Given the description of an element on the screen output the (x, y) to click on. 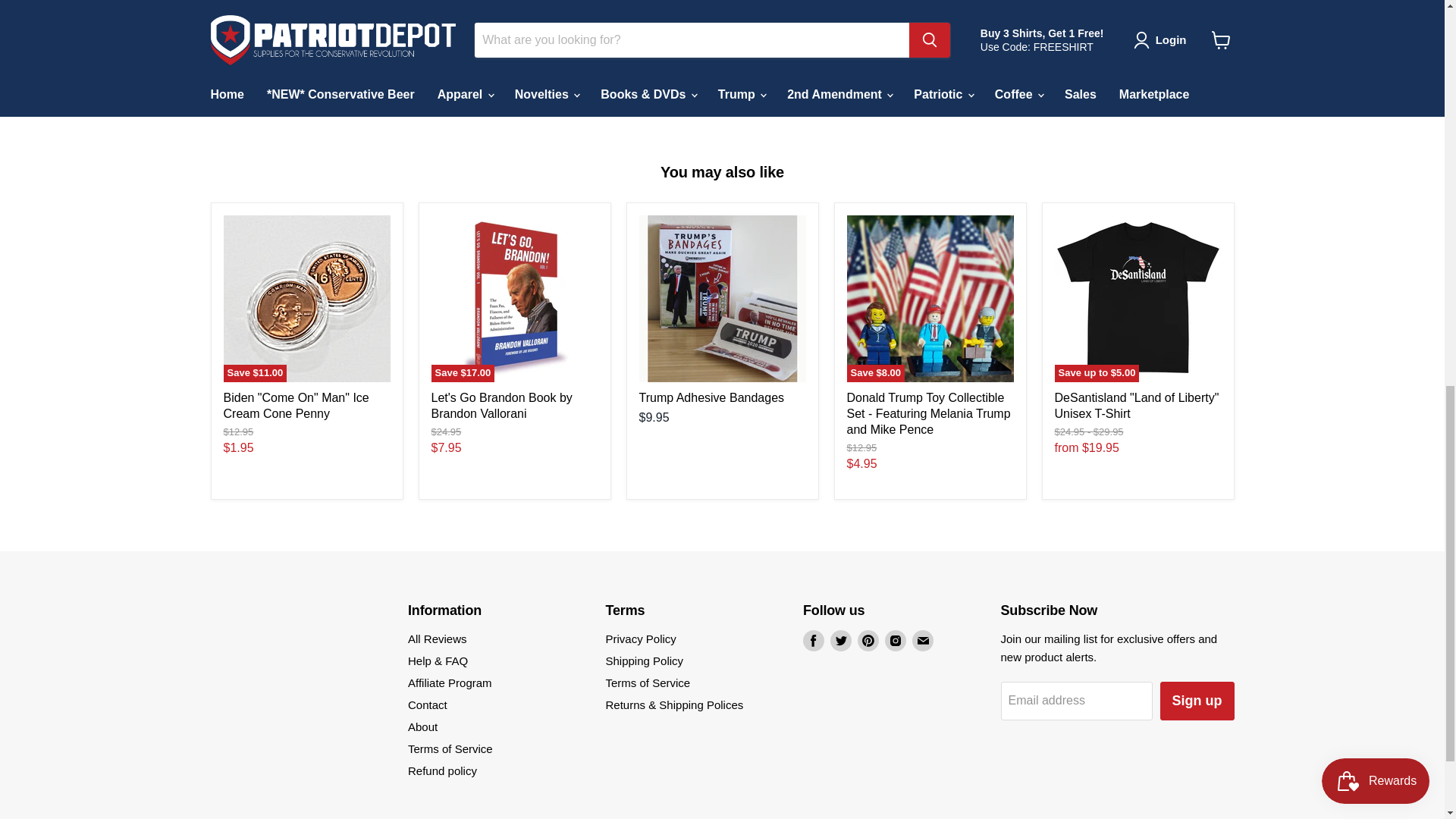
Pinterest (868, 640)
Twitter (840, 640)
Instagram (895, 640)
Email (922, 640)
Facebook (813, 640)
